Given the description of an element on the screen output the (x, y) to click on. 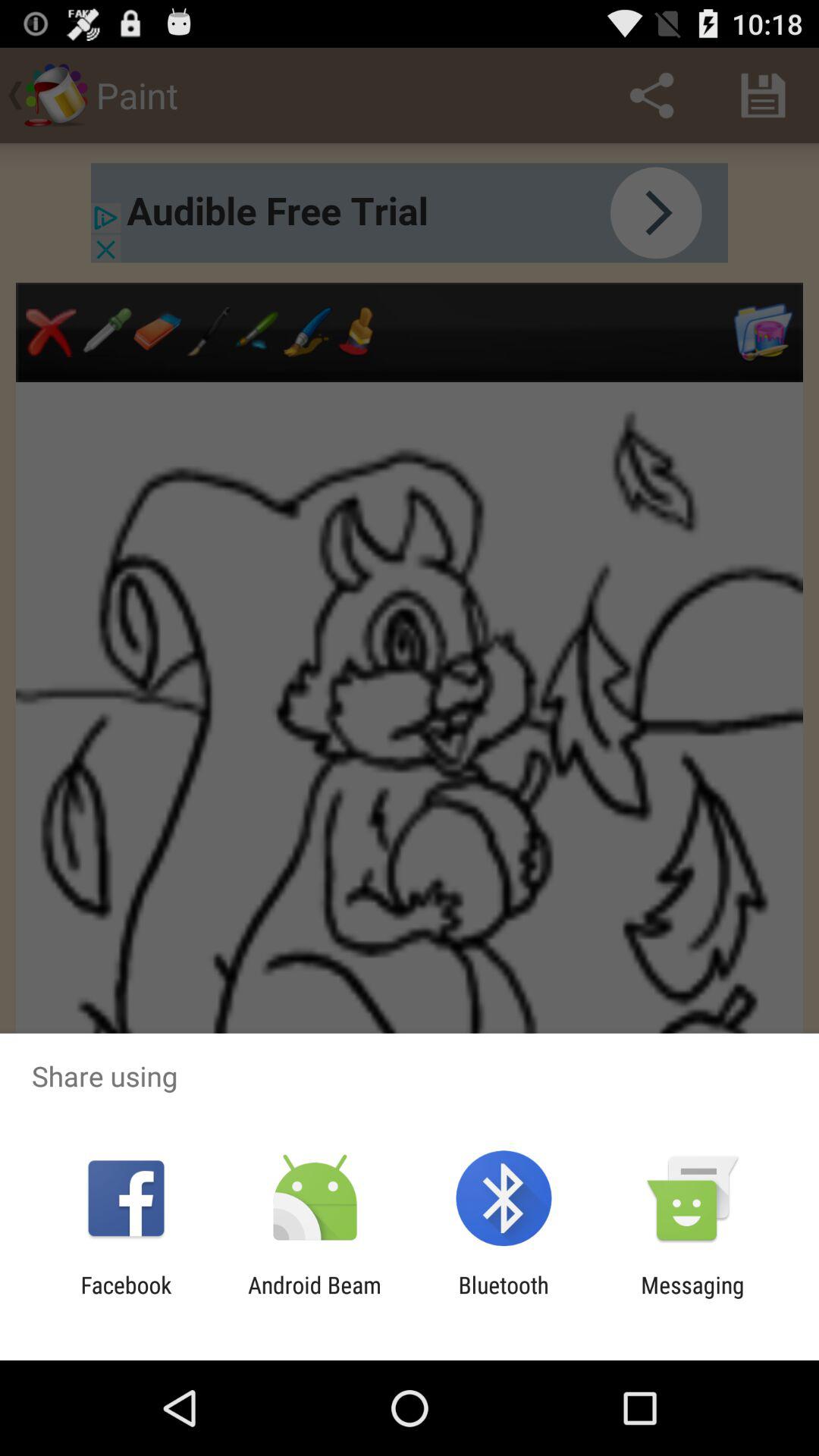
choose app next to the bluetooth icon (314, 1298)
